Given the description of an element on the screen output the (x, y) to click on. 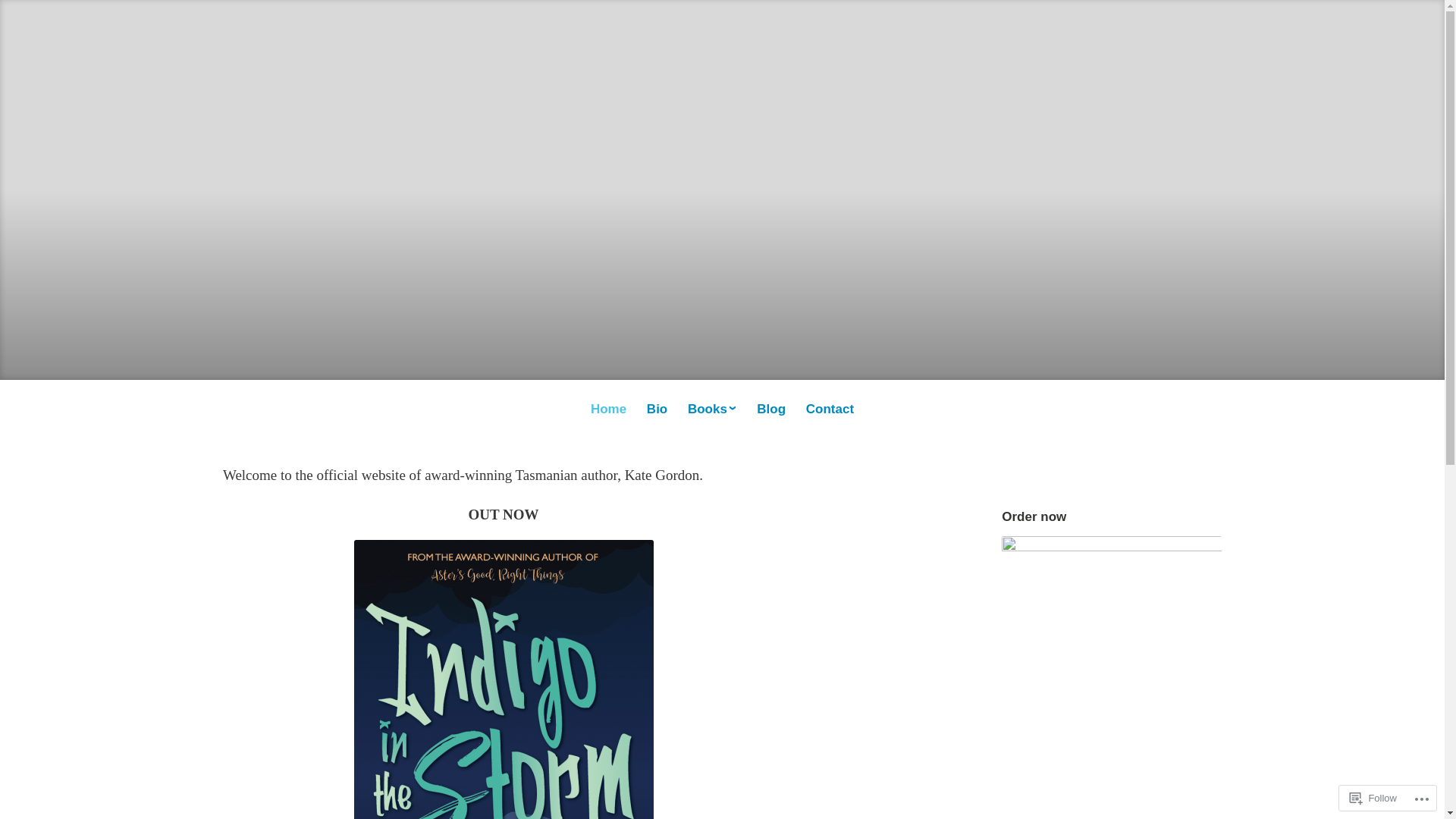
Bio Element type: text (656, 409)
Books Element type: text (711, 409)
Blog Element type: text (771, 409)
Follow Element type: text (1372, 797)
Contact Element type: text (829, 409)
Home Element type: text (607, 409)
